Given the description of an element on the screen output the (x, y) to click on. 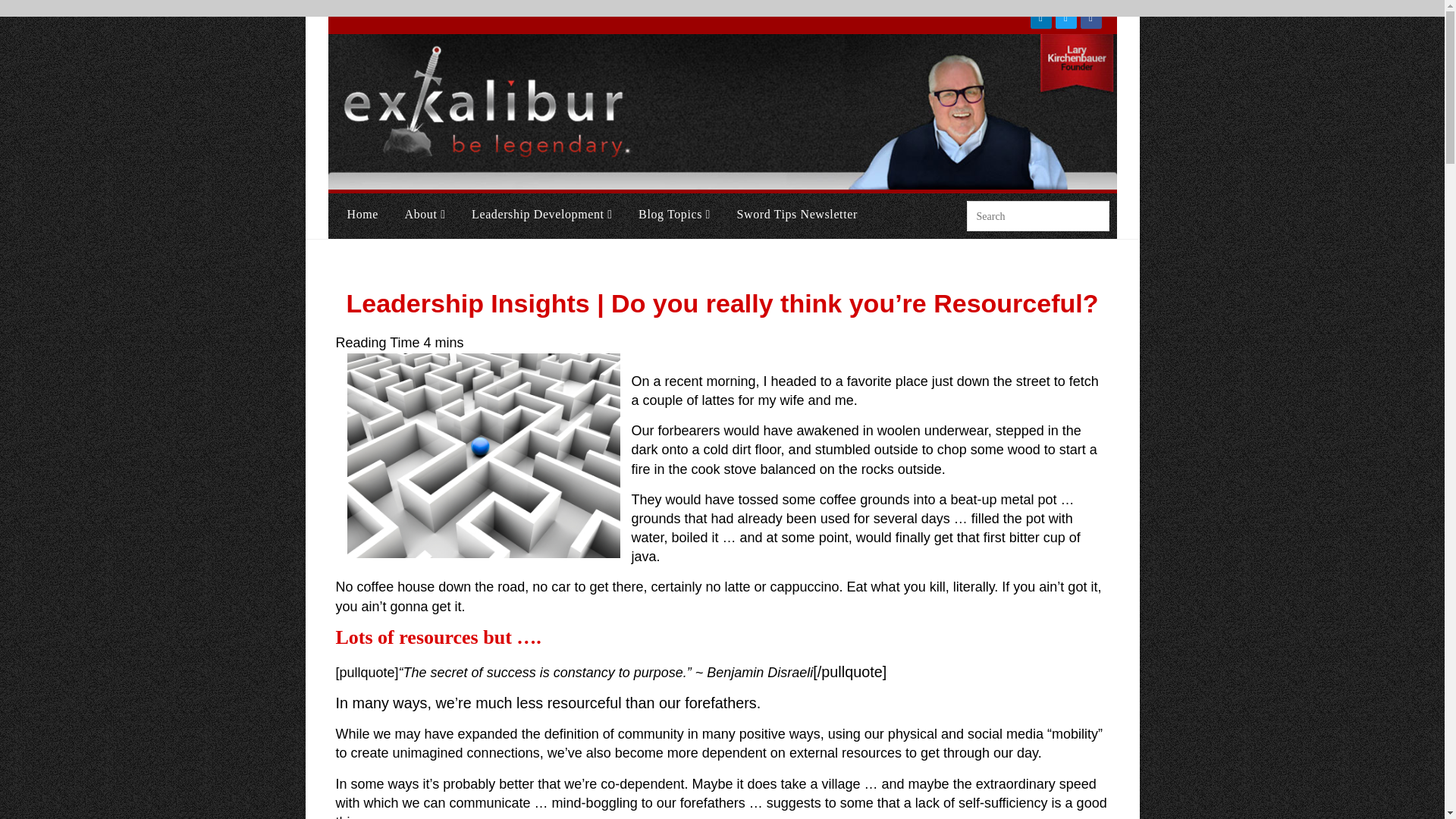
Leadership Development (542, 214)
Blog Topics (674, 214)
About (425, 214)
Sword Tips Newsletter (797, 214)
Home (362, 214)
